Given the description of an element on the screen output the (x, y) to click on. 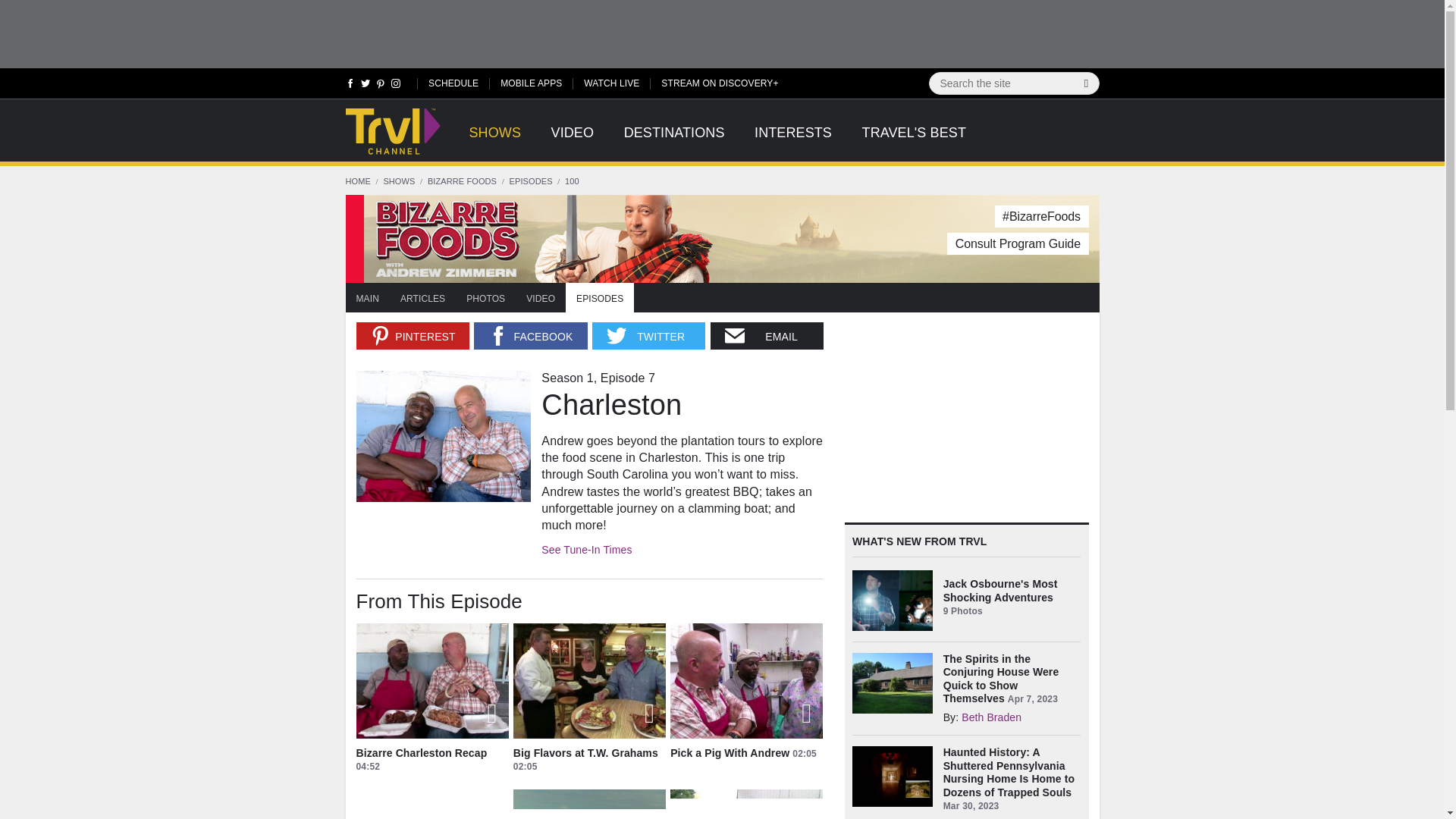
Follow us on Twitter (365, 86)
MOBILE APPS (531, 81)
Share by Email (767, 335)
SCHEDULE (453, 81)
SHOWS (494, 140)
Share on Facebook (530, 335)
Share on Pinterest (412, 335)
WATCH LIVE (611, 81)
Follow us on Instagram (394, 86)
Follow us on Pinterest (380, 86)
Share on Twitter (648, 335)
Follow us on Facebook (350, 86)
